Given the description of an element on the screen output the (x, y) to click on. 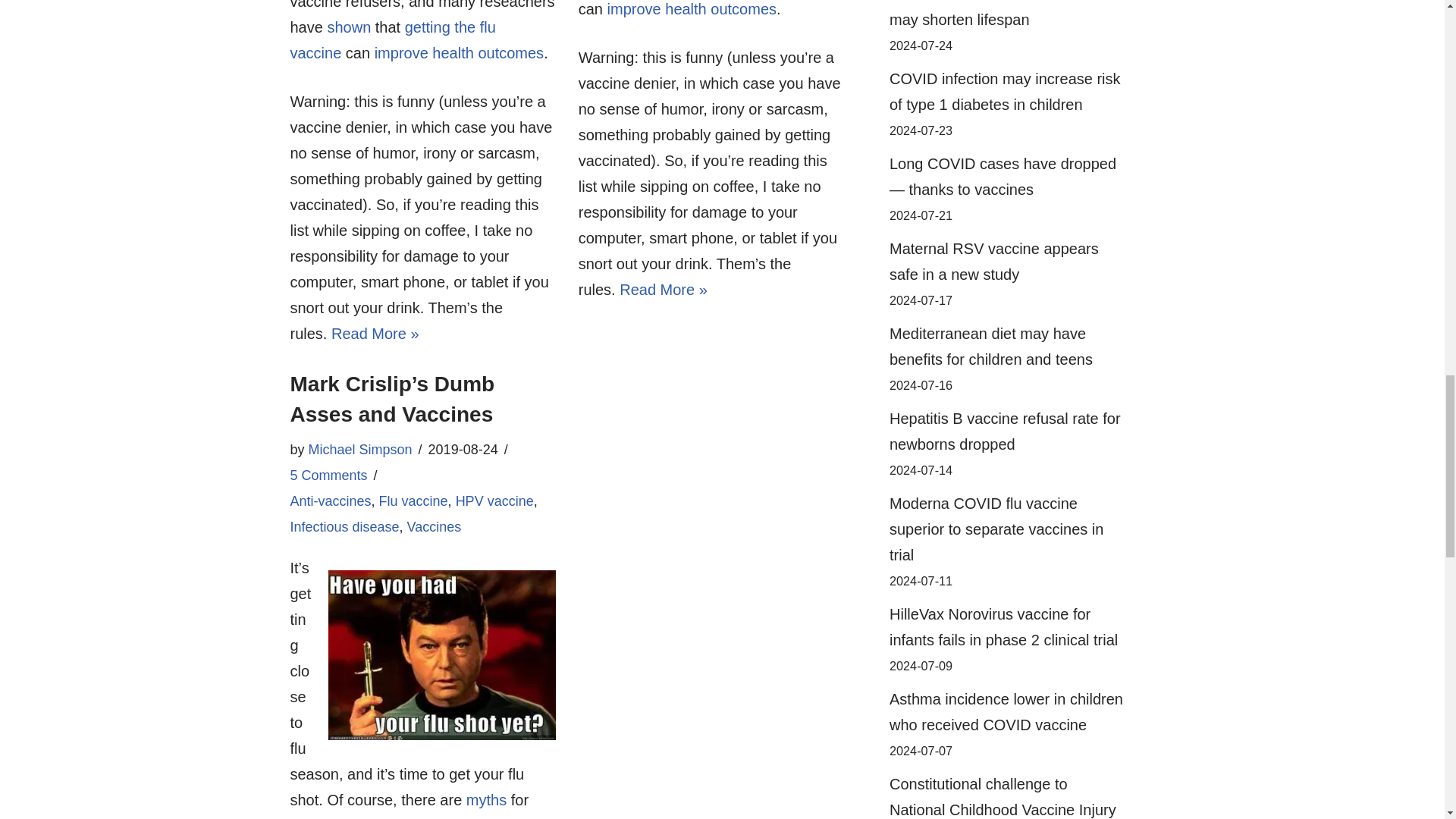
Posts by Michael Simpson (360, 449)
Flu shots are safe for pregnant women (458, 53)
Flu shots are safe for pregnant women (691, 8)
